Given the description of an element on the screen output the (x, y) to click on. 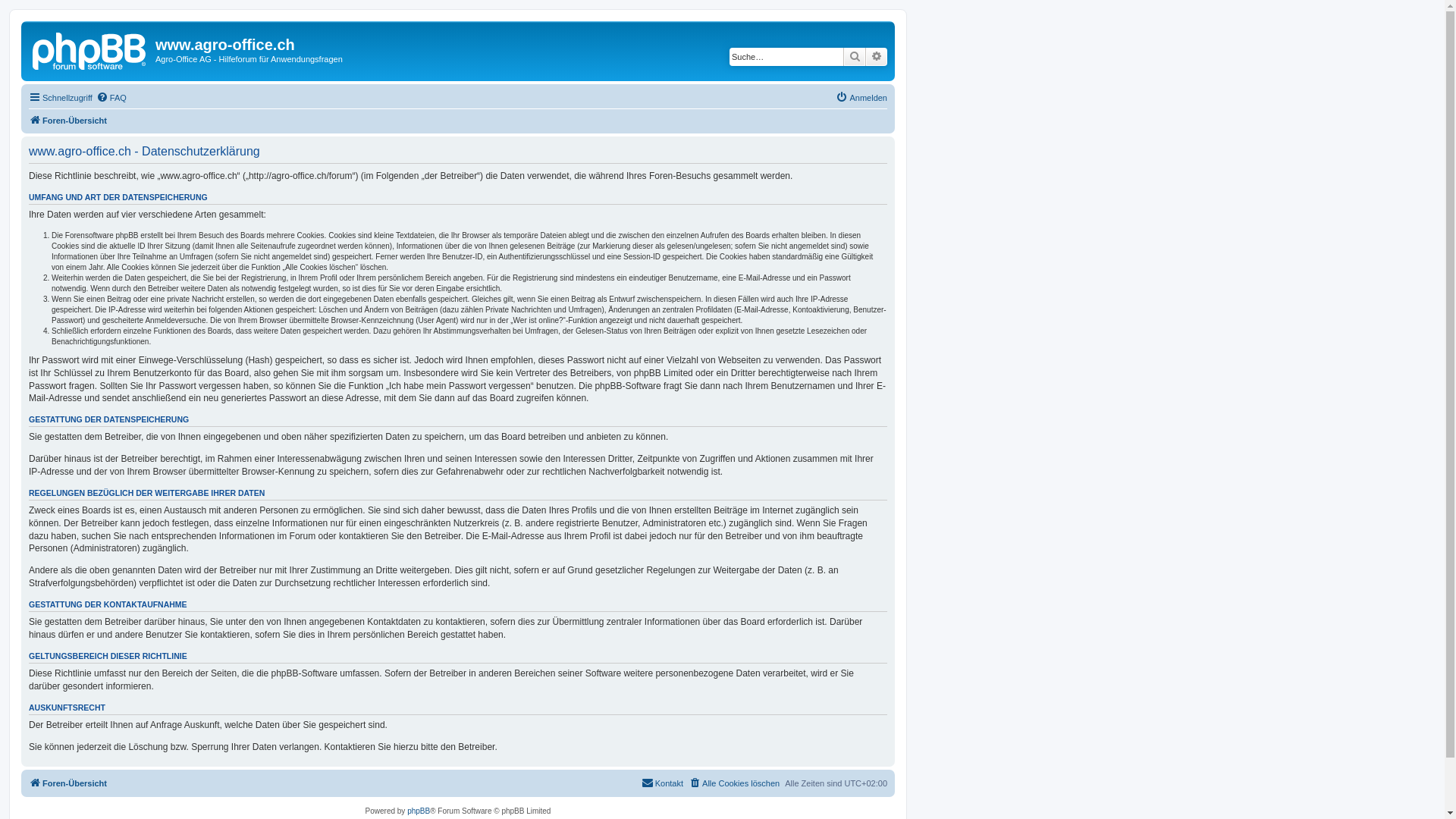
FAQ Element type: text (111, 97)
Anmelden Element type: text (861, 97)
Kontakt Element type: text (662, 783)
phpBB Element type: text (418, 811)
Schnellzugriff Element type: text (60, 97)
Erweiterte Suche Element type: text (876, 56)
Suche Element type: text (854, 56)
